Given the description of an element on the screen output the (x, y) to click on. 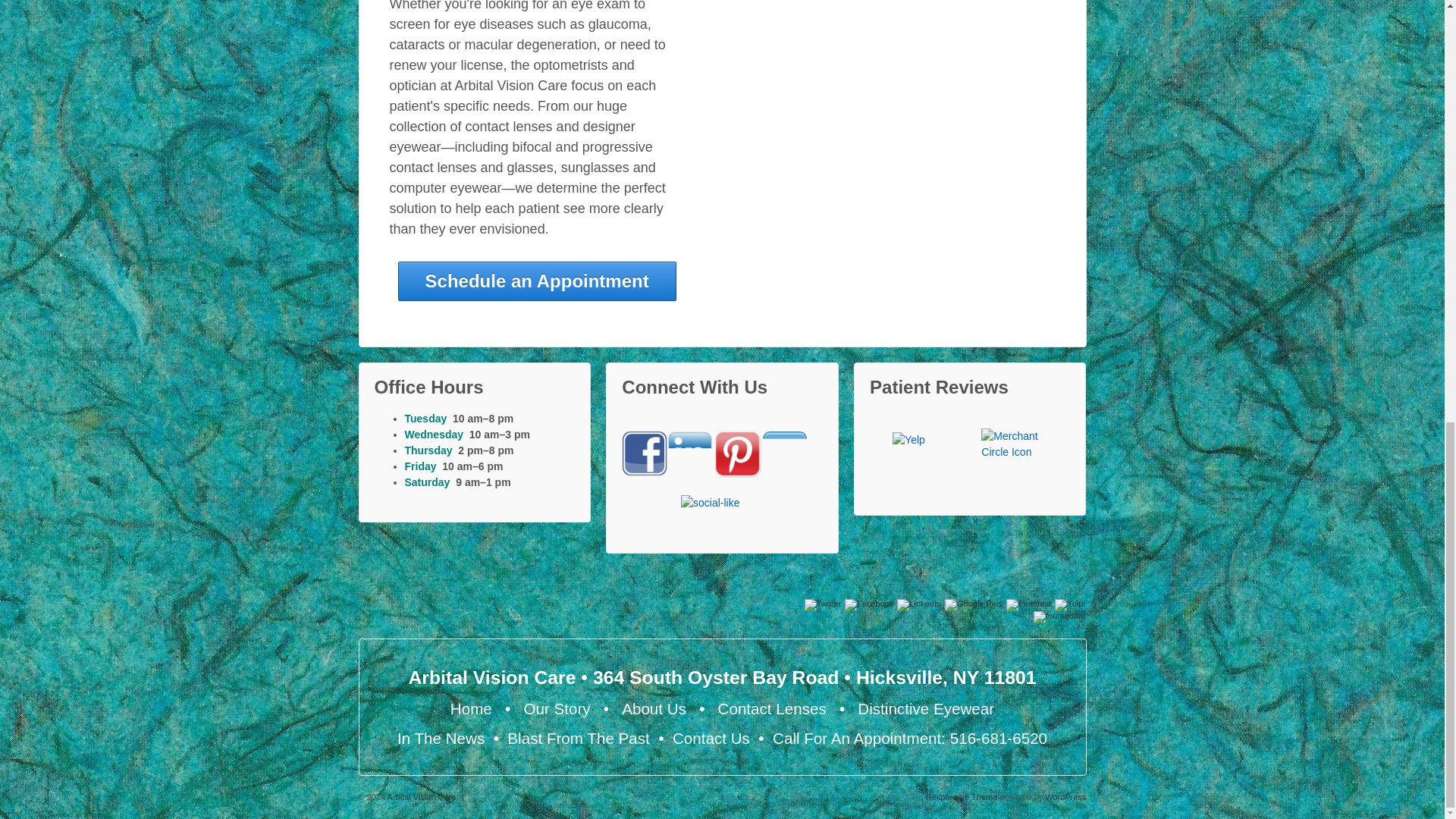
Schedule an Appointment (537, 281)
In The News (440, 737)
Call For An Appointment: 516-681-6520 (909, 737)
About Us (653, 708)
About Us (653, 708)
Call For An Appointment (909, 737)
Our Story (555, 708)
Our Story (555, 708)
Home (470, 708)
Distinctive Eyewear (925, 708)
